Given the description of an element on the screen output the (x, y) to click on. 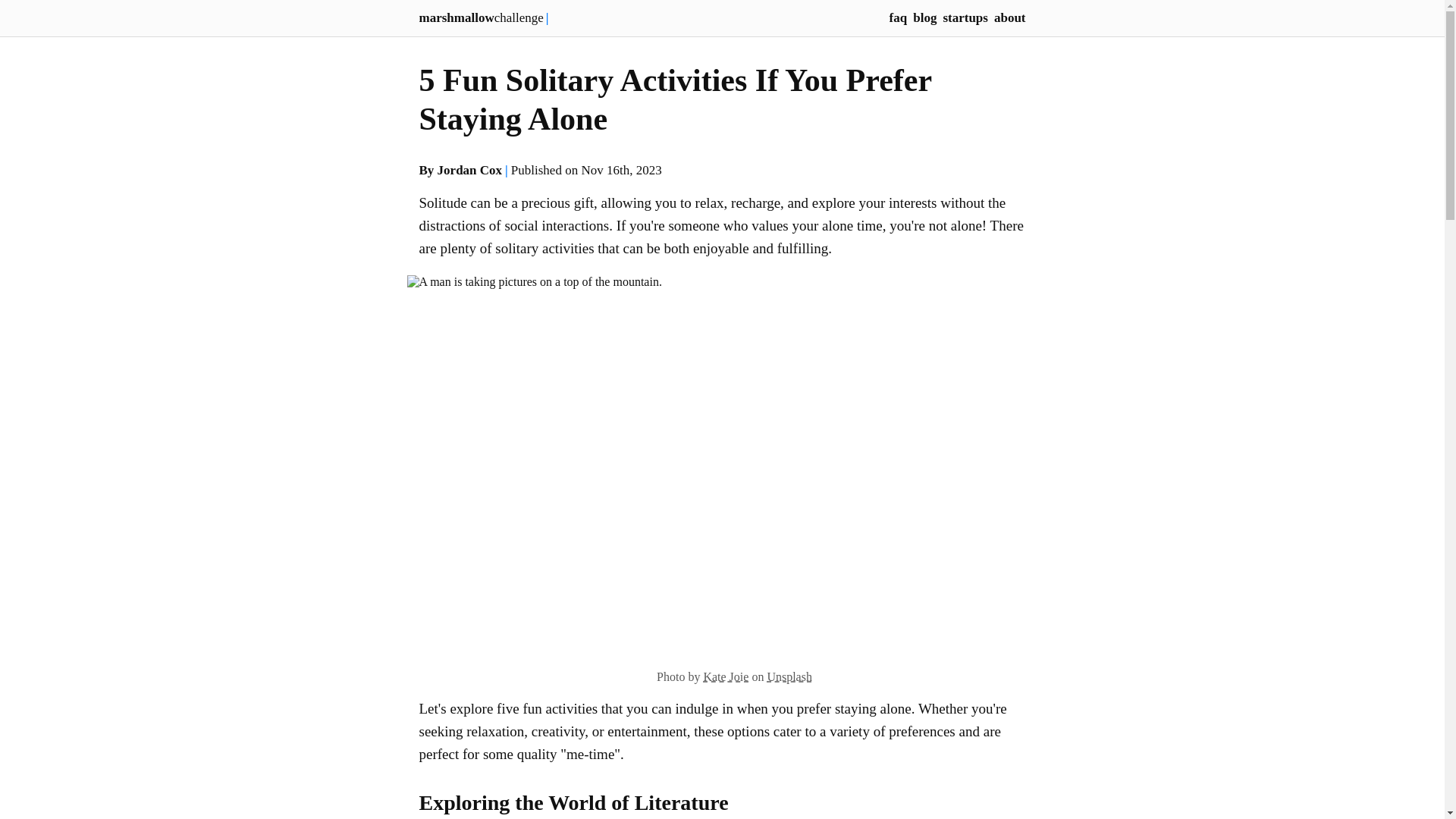
faq (898, 17)
blog (924, 17)
Unsplash (789, 676)
Kate Joie (725, 676)
startups (965, 17)
about (1010, 17)
